Given the description of an element on the screen output the (x, y) to click on. 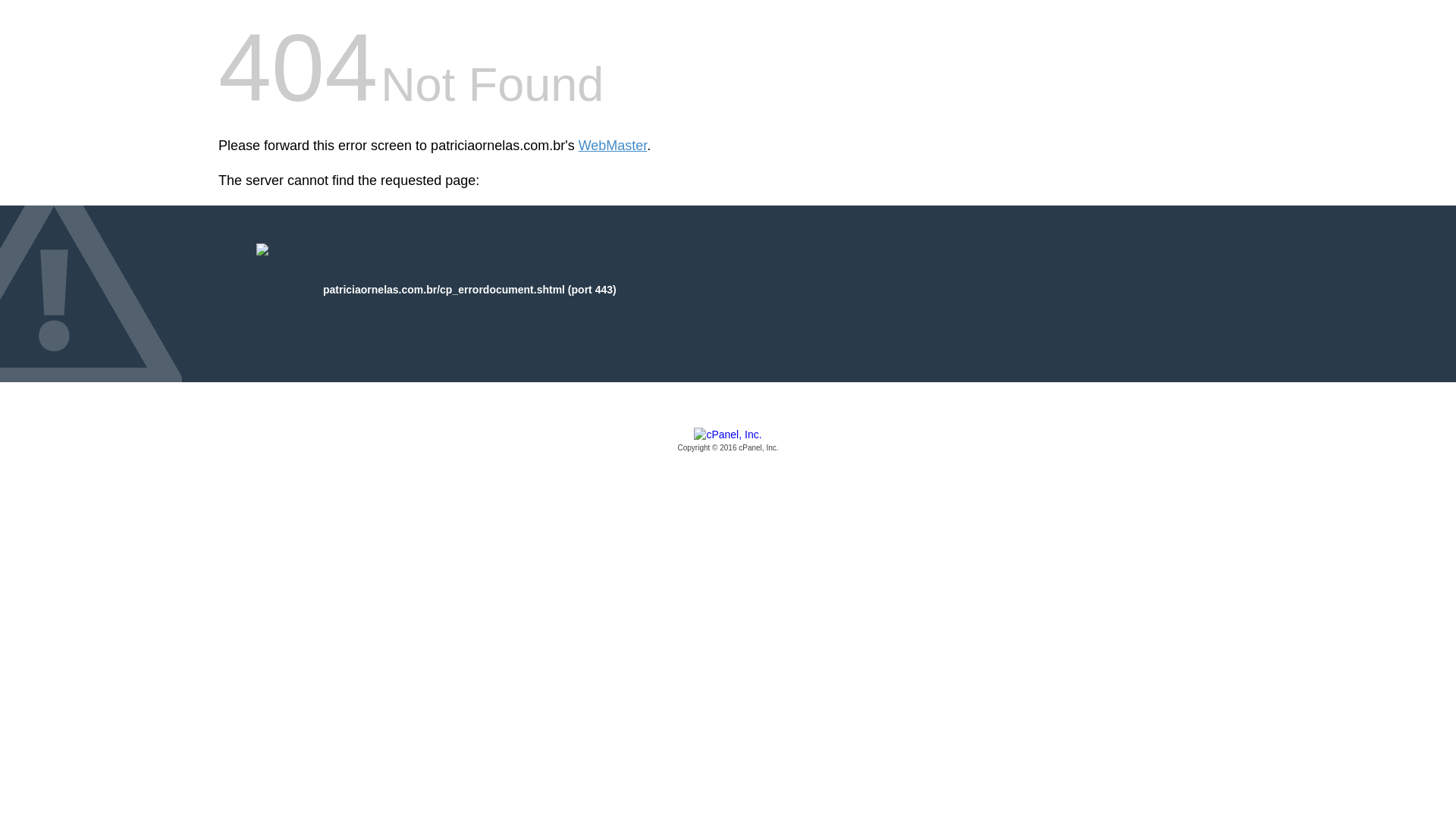
cPanel, Inc. (727, 440)
WebMaster (612, 145)
